Given the description of an element on the screen output the (x, y) to click on. 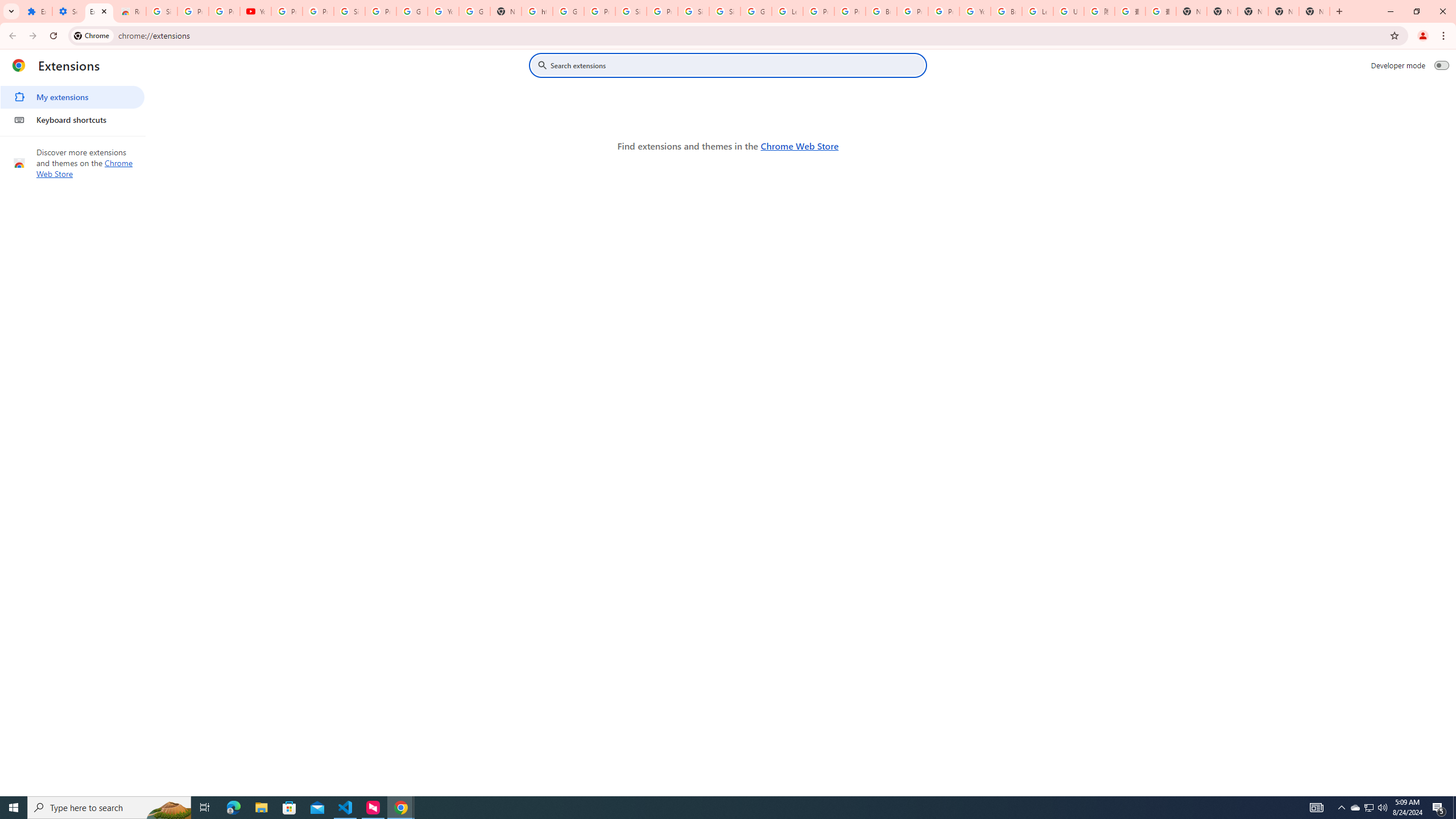
Sign in - Google Accounts (693, 11)
New Tab (1190, 11)
AutomationID: sectionMenu (72, 106)
YouTube (443, 11)
Sign in - Google Accounts (724, 11)
https://scholar.google.com/ (536, 11)
